Given the description of an element on the screen output the (x, y) to click on. 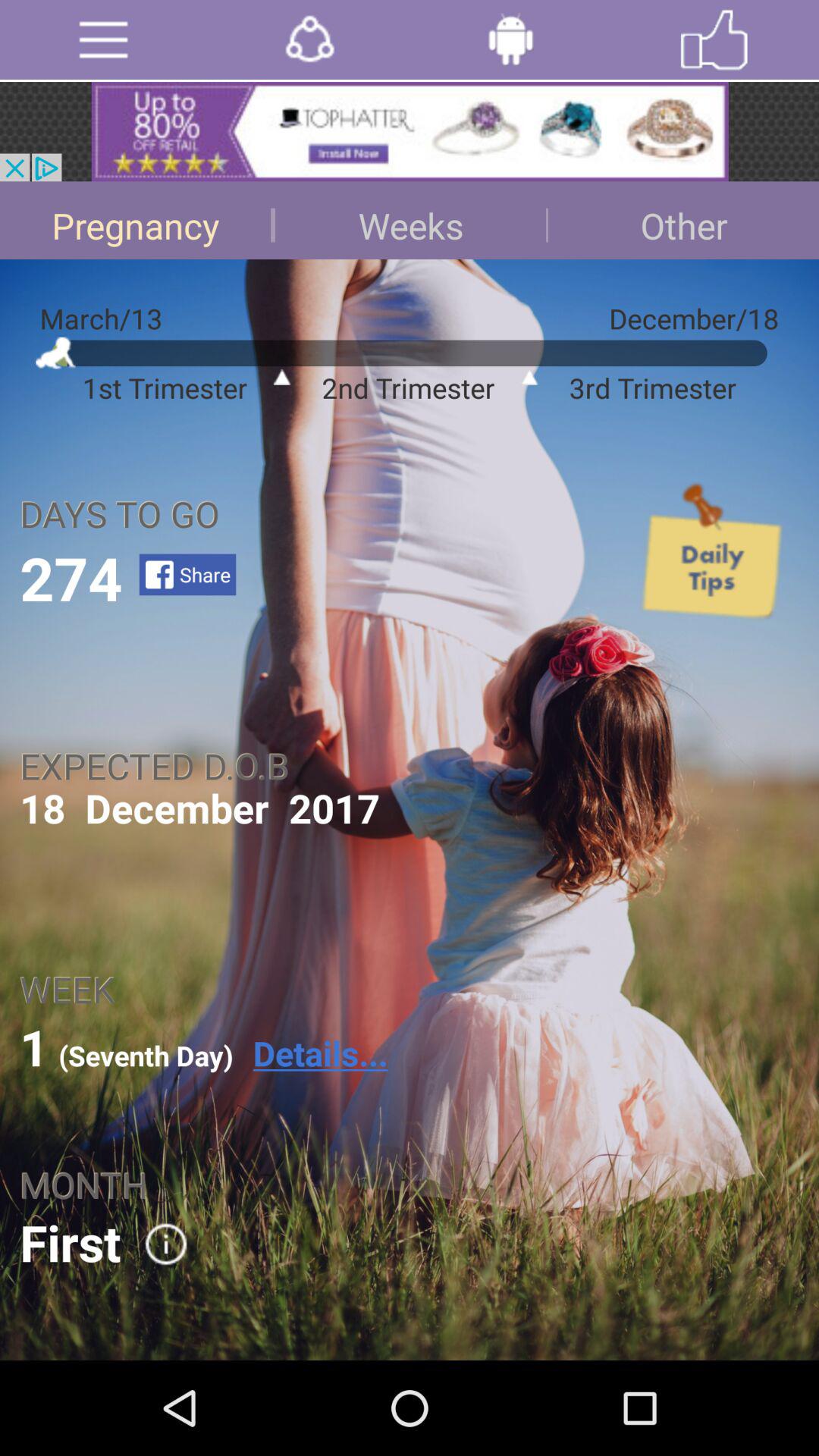
click for robotic help (510, 39)
